Given the description of an element on the screen output the (x, y) to click on. 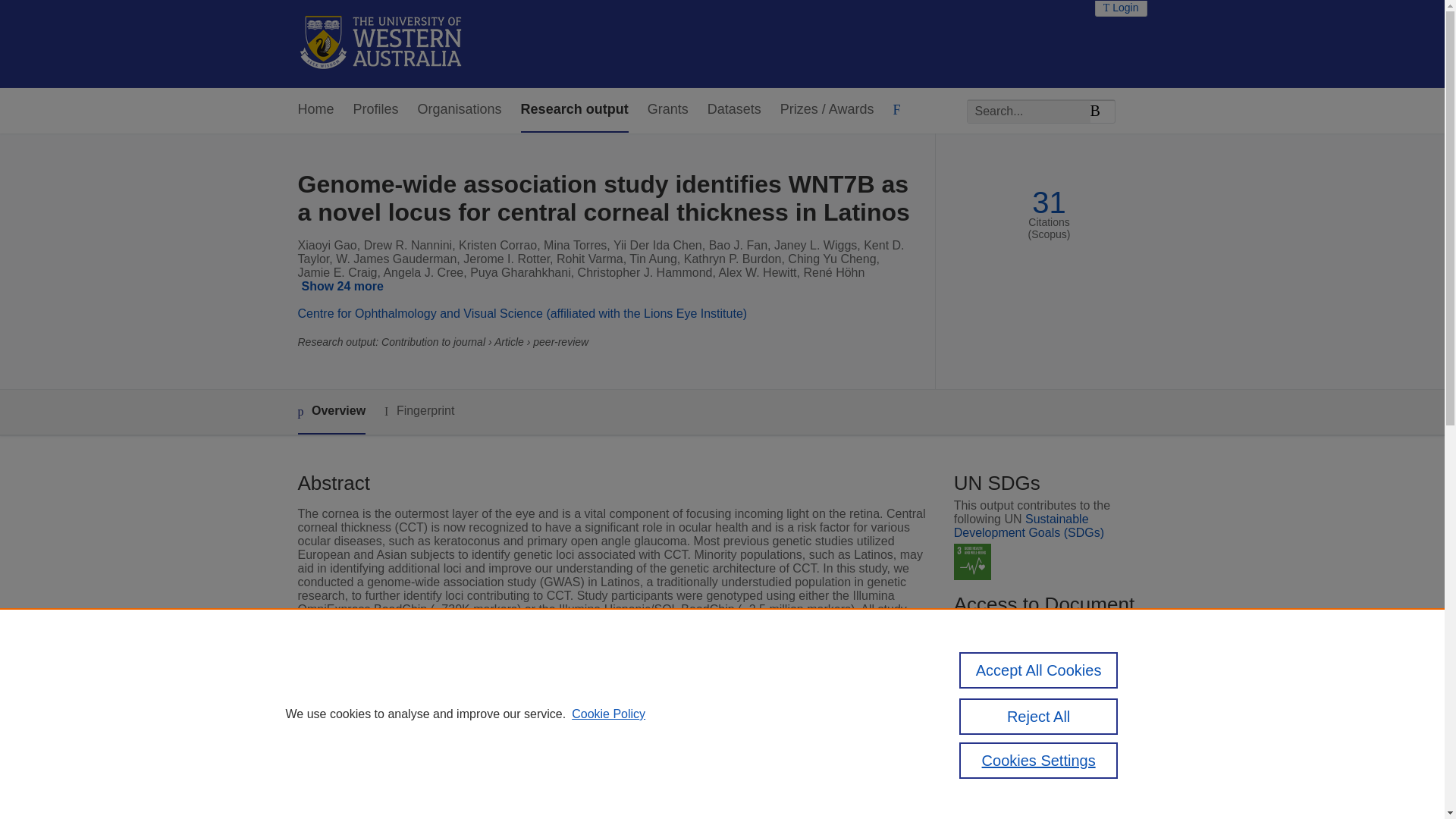
Fingerprint (419, 411)
Datasets (734, 109)
the UWA Profiles and Research Repository Home (380, 43)
Grants (667, 109)
31 (1048, 202)
Research output (574, 109)
SDG 3 - Good Health and Well-being (972, 561)
Link to publication in Scopus (1045, 699)
Login (1121, 7)
